Given the description of an element on the screen output the (x, y) to click on. 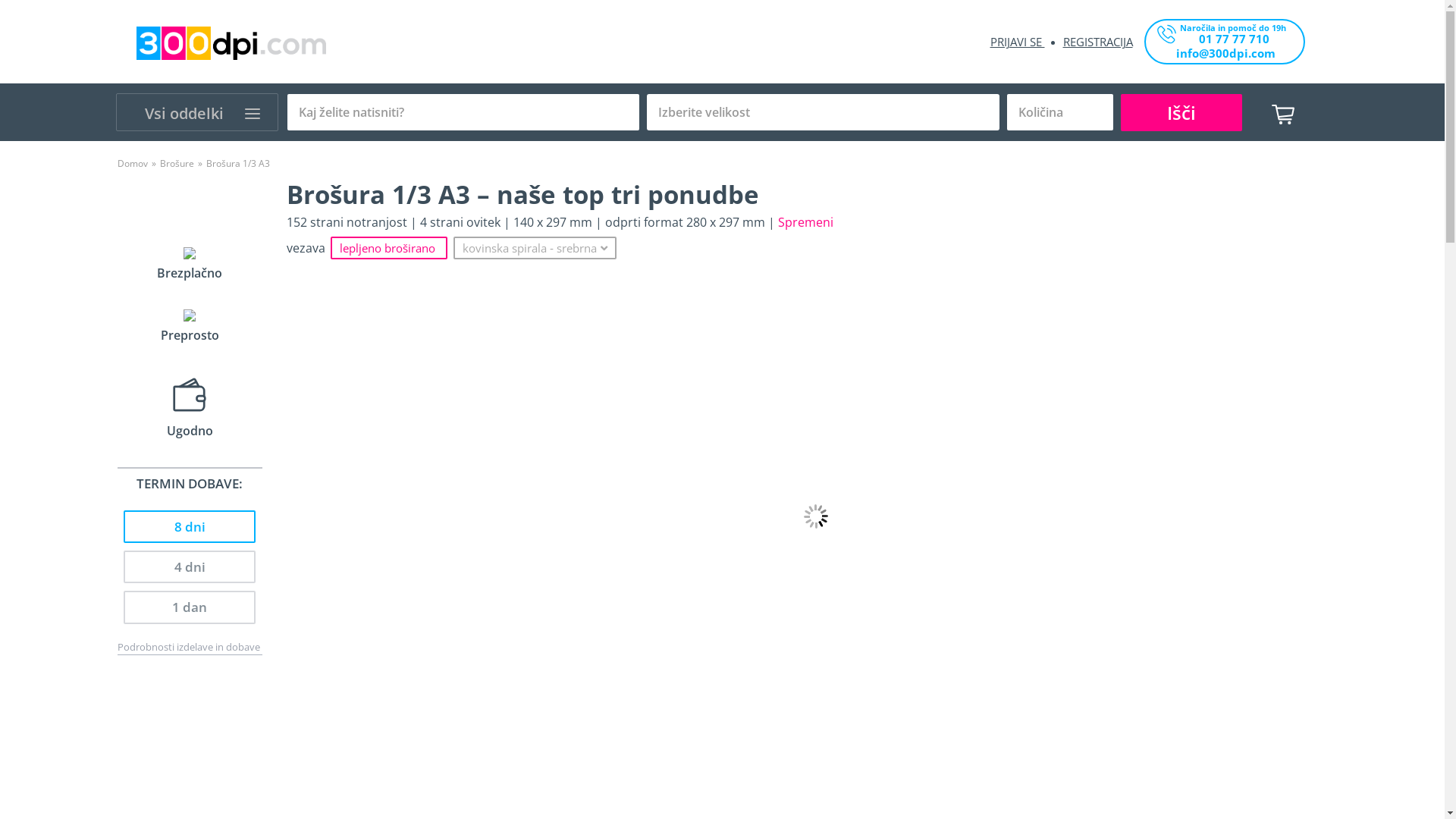
PRIJAVI SE Element type: text (1017, 41)
Preprosto Element type: text (189, 325)
300dpi.com Element type: hover (231, 42)
Domov Element type: text (131, 162)
Ugodno Element type: text (189, 403)
info@300dpi.com Element type: text (1238, 54)
REGISTRACIJA Element type: text (1097, 41)
